Given the description of an element on the screen output the (x, y) to click on. 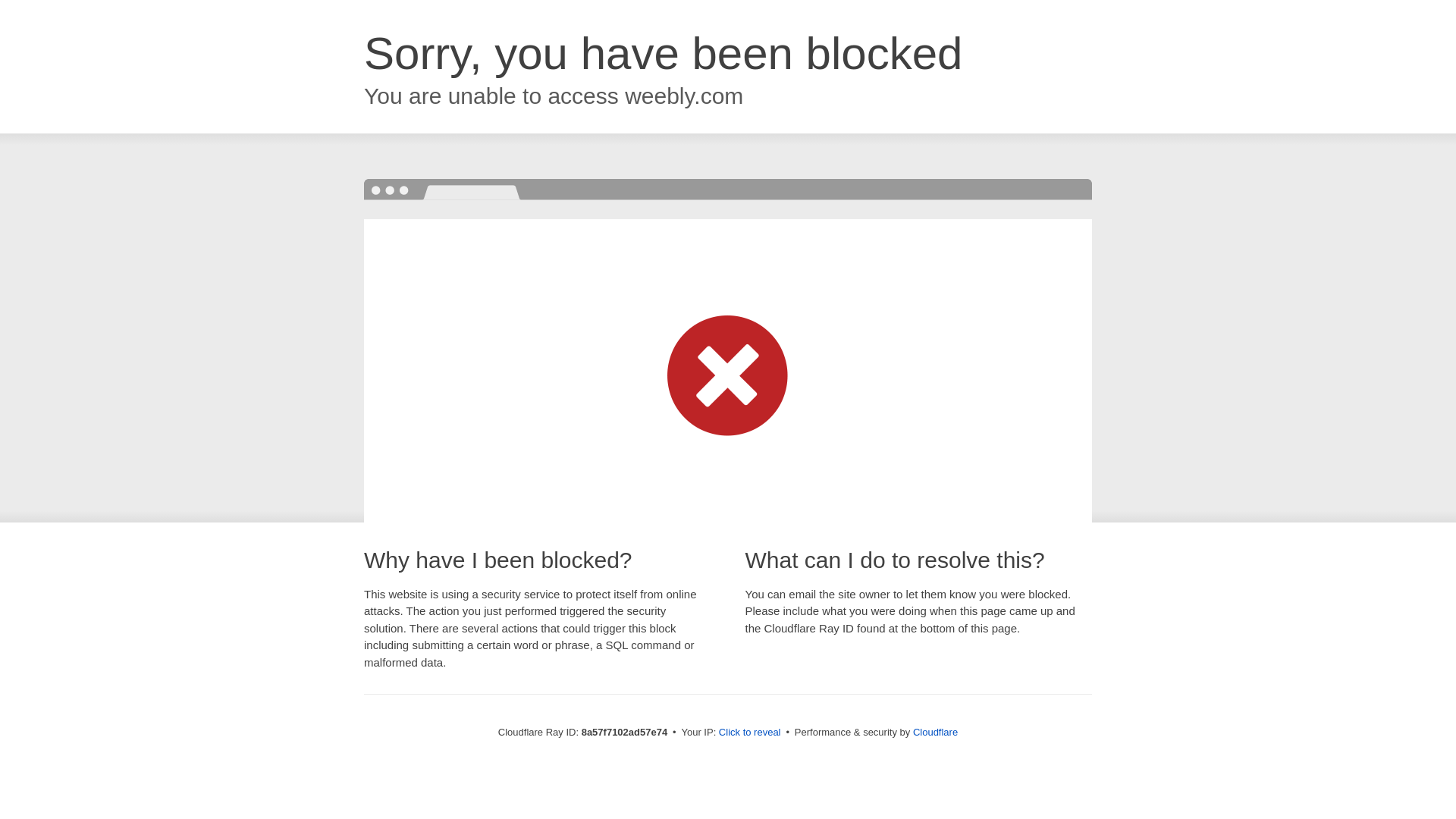
Click to reveal (749, 732)
Cloudflare (935, 731)
